Given the description of an element on the screen output the (x, y) to click on. 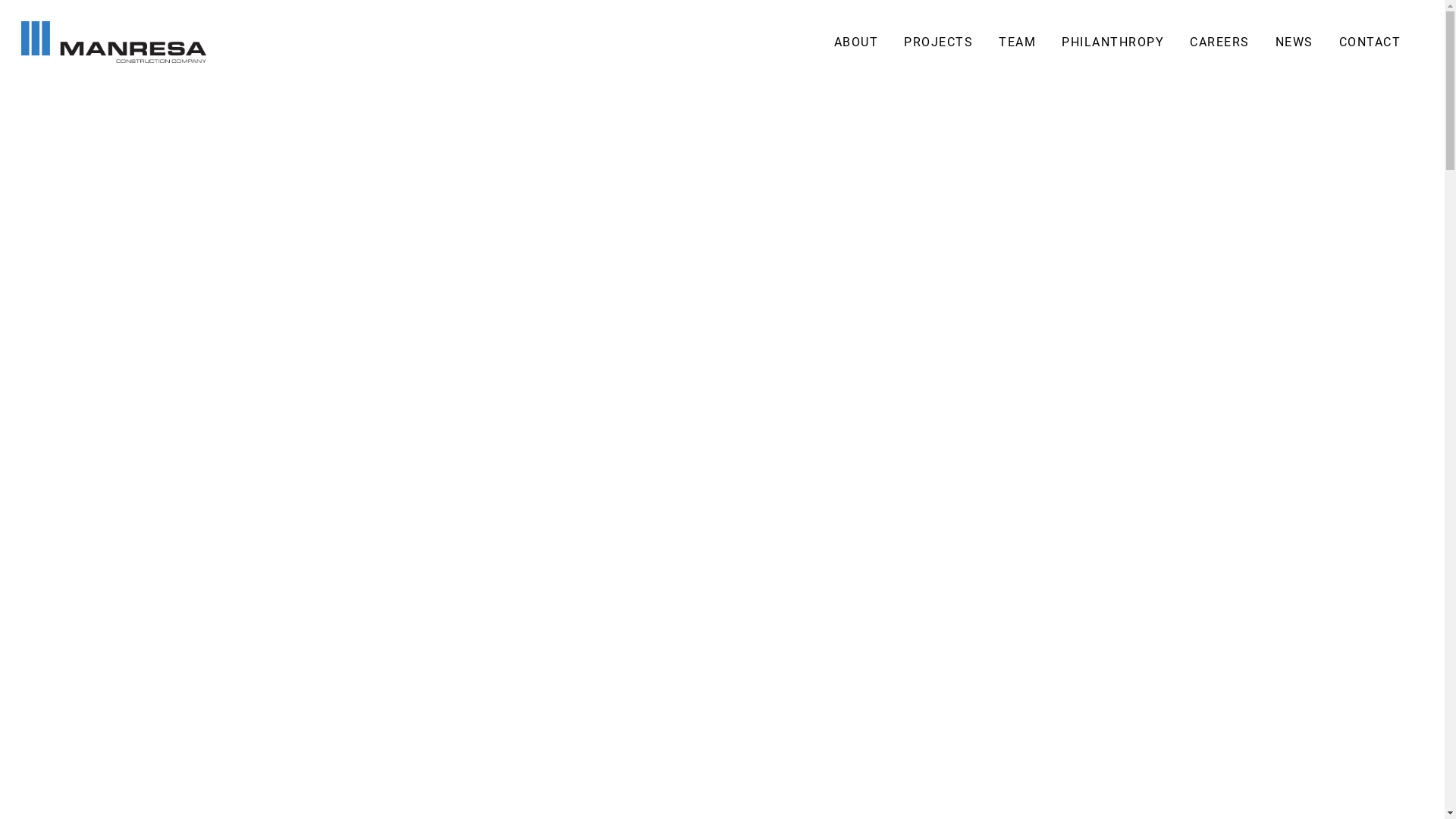
NEWS Element type: text (1294, 41)
PROJECTS Element type: text (937, 41)
CAREERS Element type: text (1219, 41)
CONTACT Element type: text (1370, 41)
ABOUT Element type: text (856, 41)
TEAM Element type: text (1016, 41)
PHILANTHROPY Element type: text (1112, 41)
